Given the description of an element on the screen output the (x, y) to click on. 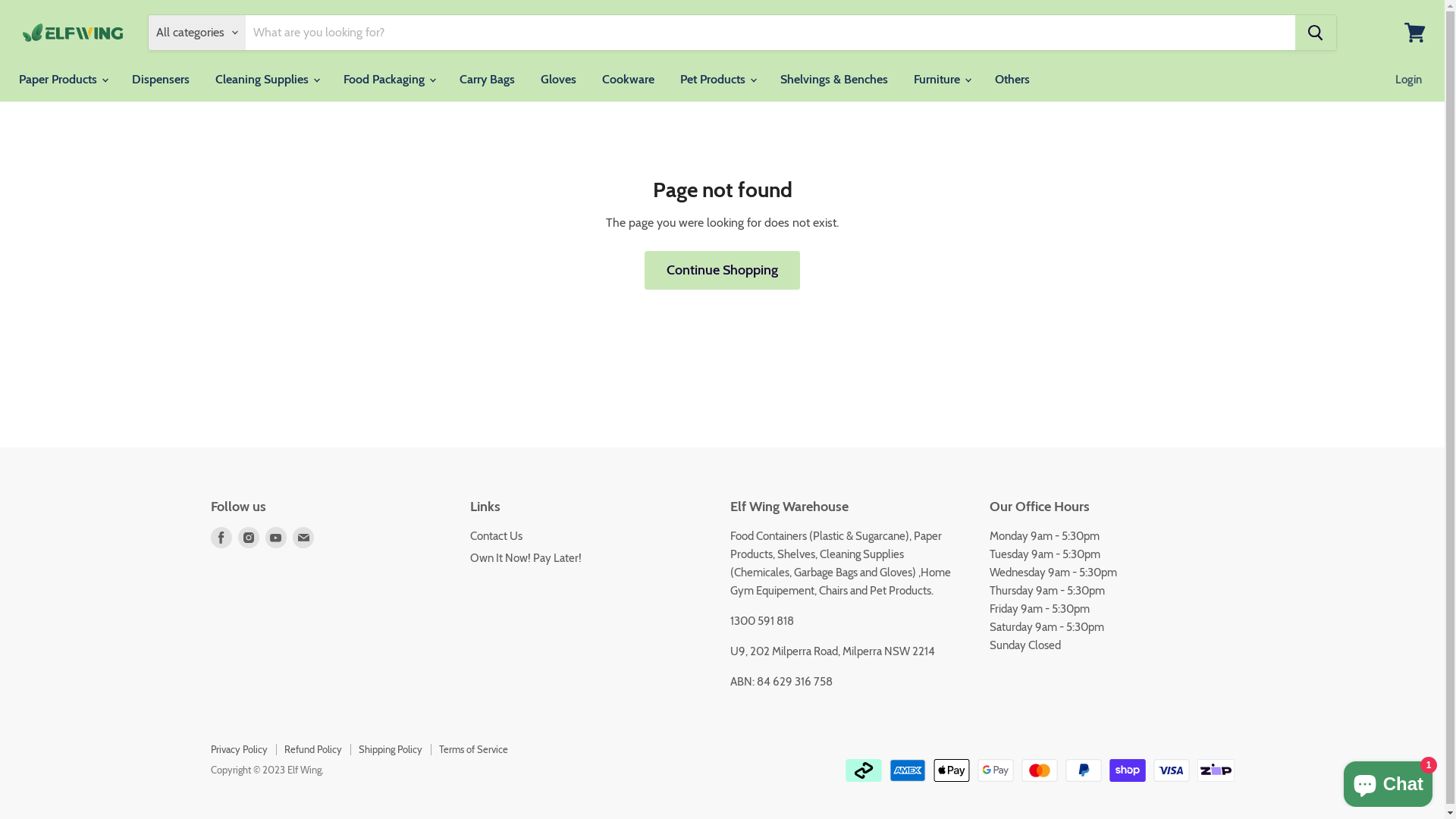
Others Element type: text (1012, 79)
Terms of Service Element type: text (472, 749)
Gloves Element type: text (558, 79)
Cleaning Supplies Element type: text (266, 79)
Login Element type: text (1408, 79)
Cookware Element type: text (627, 79)
Own It Now! Pay Later! Element type: text (525, 557)
Privacy Policy Element type: text (238, 749)
Continue Shopping Element type: text (722, 270)
Paper Products Element type: text (62, 79)
Find us on Youtube Element type: text (275, 537)
Find us on Instagram Element type: text (248, 537)
Find us on Facebook Element type: text (221, 537)
Contact Us Element type: text (496, 535)
Furniture Element type: text (941, 79)
Refund Policy Element type: text (312, 749)
Shopify online store chat Element type: hover (1388, 780)
Shipping Policy Element type: text (389, 749)
Shelvings & Benches Element type: text (833, 79)
Pet Products Element type: text (716, 79)
Find us on E-mail Element type: text (302, 537)
View cart Element type: text (1414, 32)
Carry Bags Element type: text (487, 79)
Food Packaging Element type: text (388, 79)
Dispensers Element type: text (160, 79)
